Given the description of an element on the screen output the (x, y) to click on. 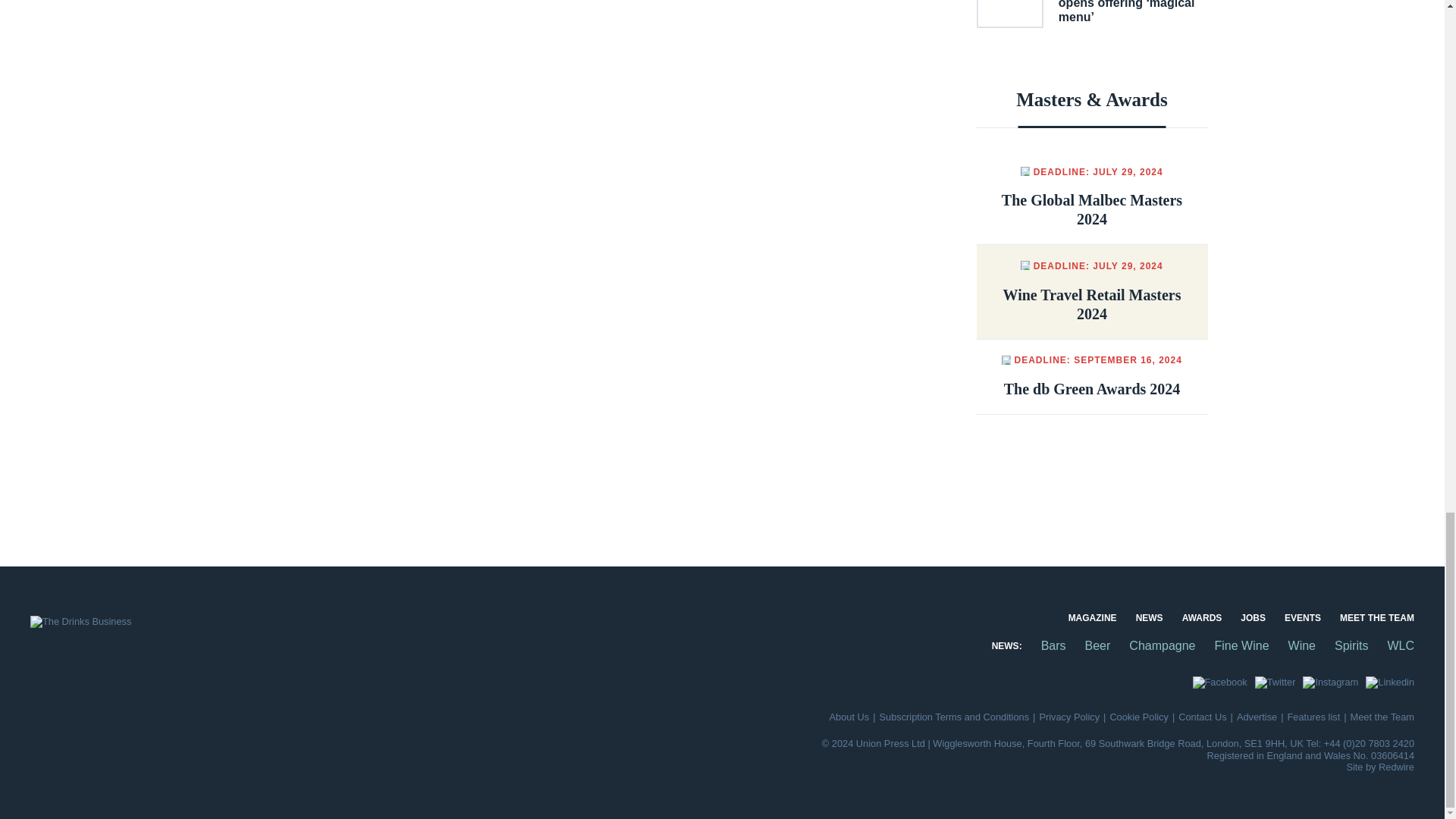
The Drinks Business (80, 621)
